Given the description of an element on the screen output the (x, y) to click on. 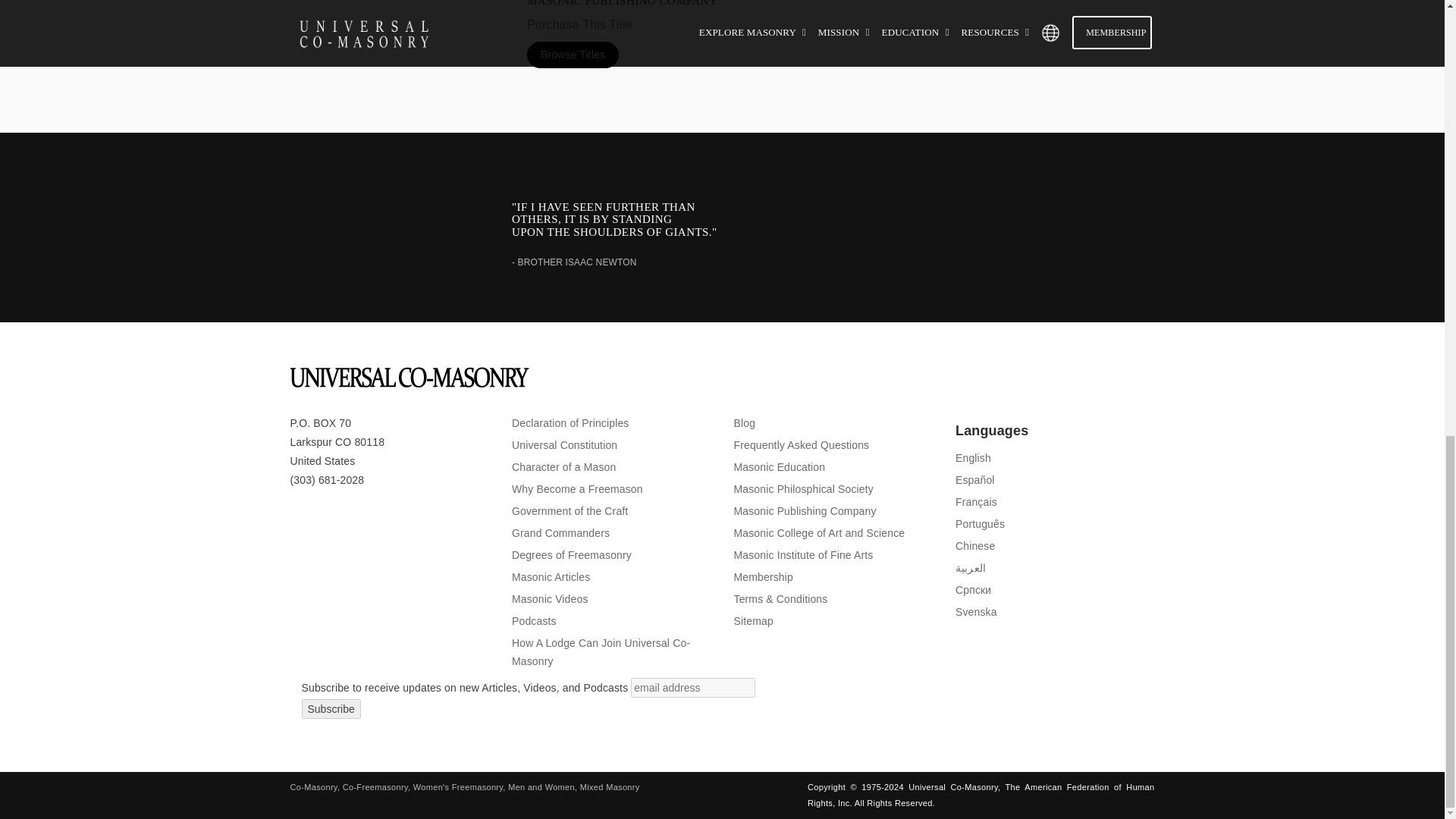
Subscribe (331, 709)
